Given the description of an element on the screen output the (x, y) to click on. 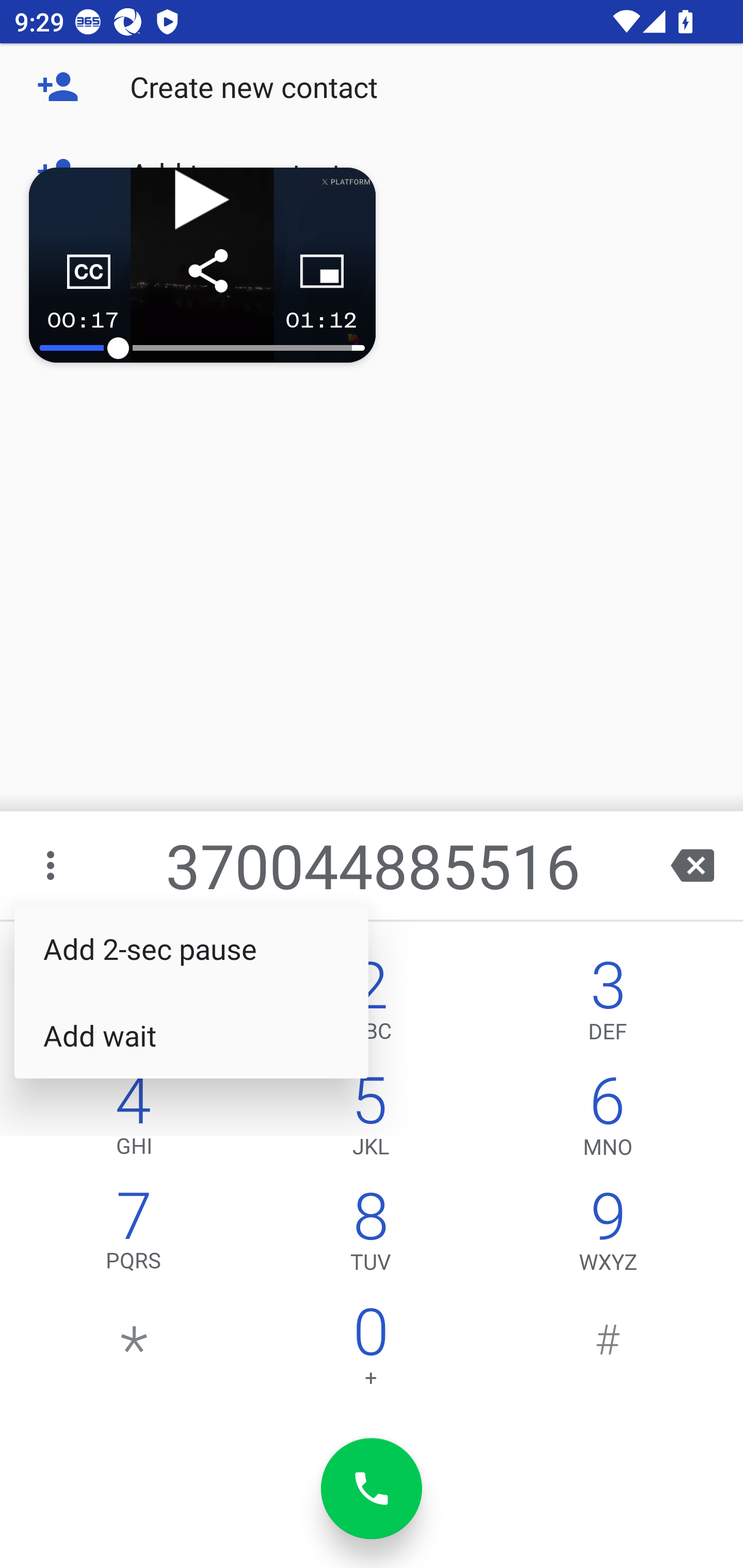
Add 2-sec pause (191, 948)
Add wait (191, 1035)
